Given the description of an element on the screen output the (x, y) to click on. 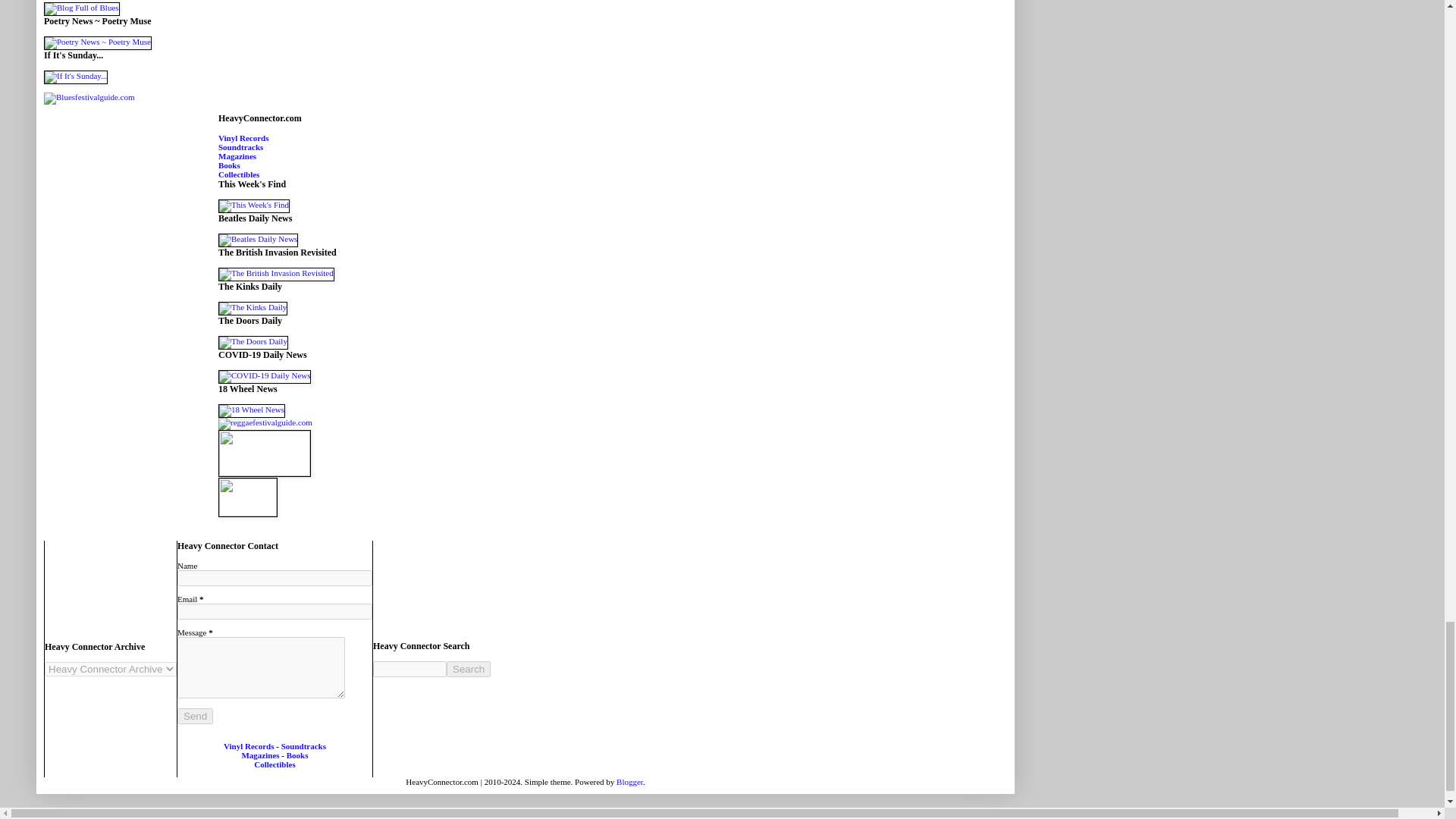
Send (194, 715)
search (468, 668)
search (409, 668)
Search (468, 668)
Search (468, 668)
